Given the description of an element on the screen output the (x, y) to click on. 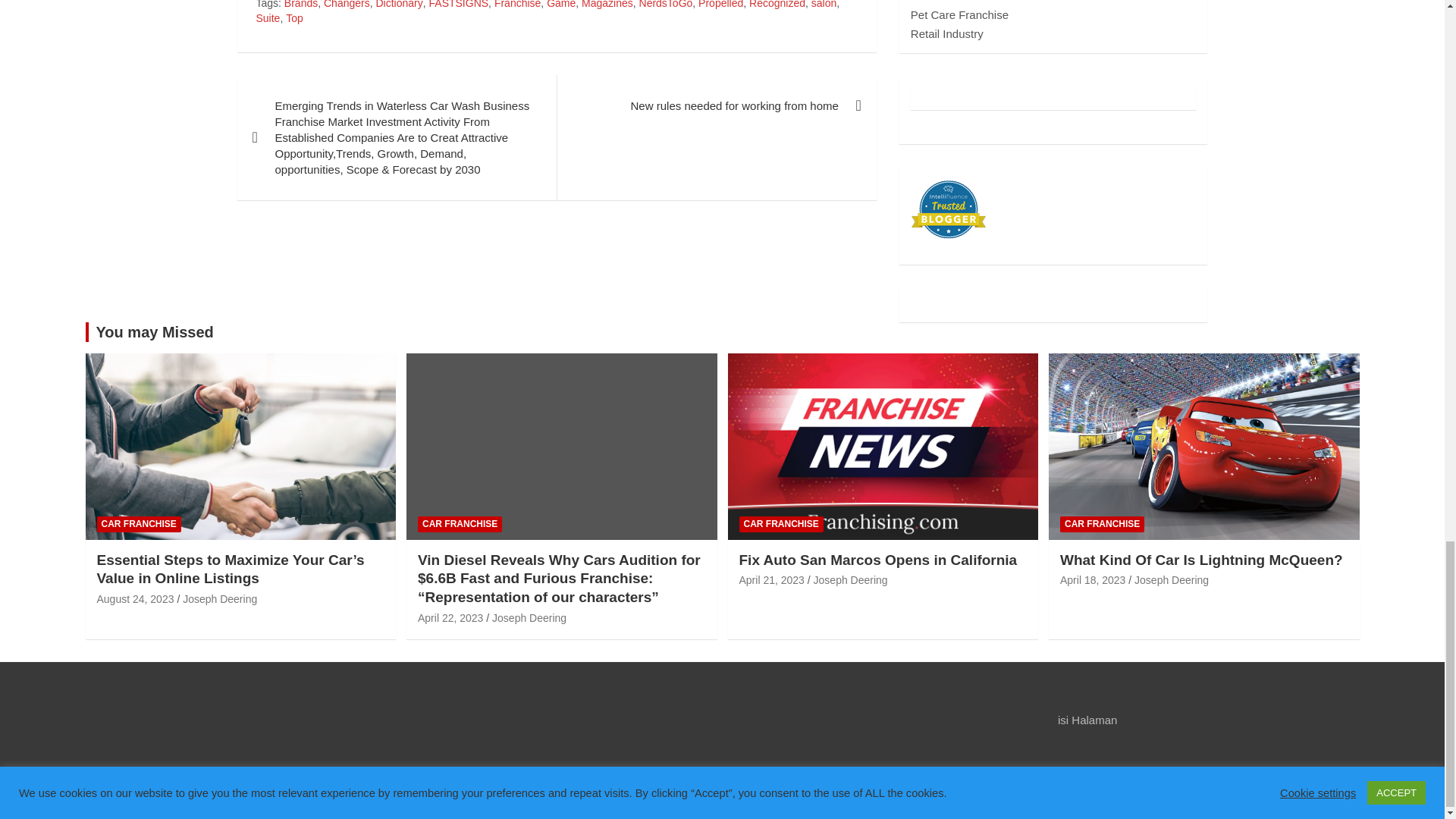
WordPress (680, 792)
NerdsToGo (666, 5)
Propelled (720, 5)
Theme Horse (494, 792)
What Kind Of Car Is Lightning McQueen? (1092, 580)
Changers (346, 5)
Franchise Business Club (239, 792)
FASTSIGNS (459, 5)
Magazines (606, 5)
Franchise (517, 5)
Dictionary (398, 5)
Fix Auto San Marcos Opens in California (770, 580)
Game (561, 5)
Recognized (777, 5)
Brands (300, 5)
